Given the description of an element on the screen output the (x, y) to click on. 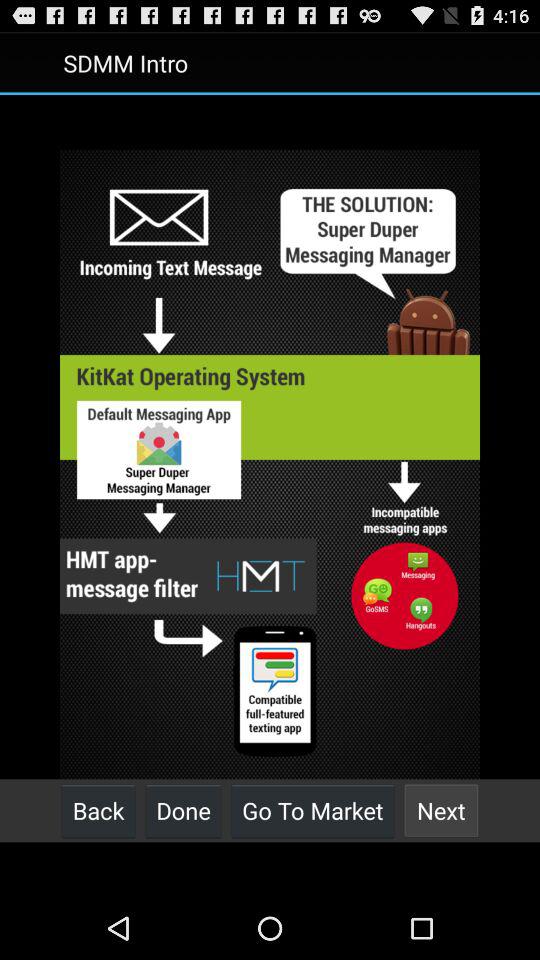
launch the back button (98, 810)
